Given the description of an element on the screen output the (x, y) to click on. 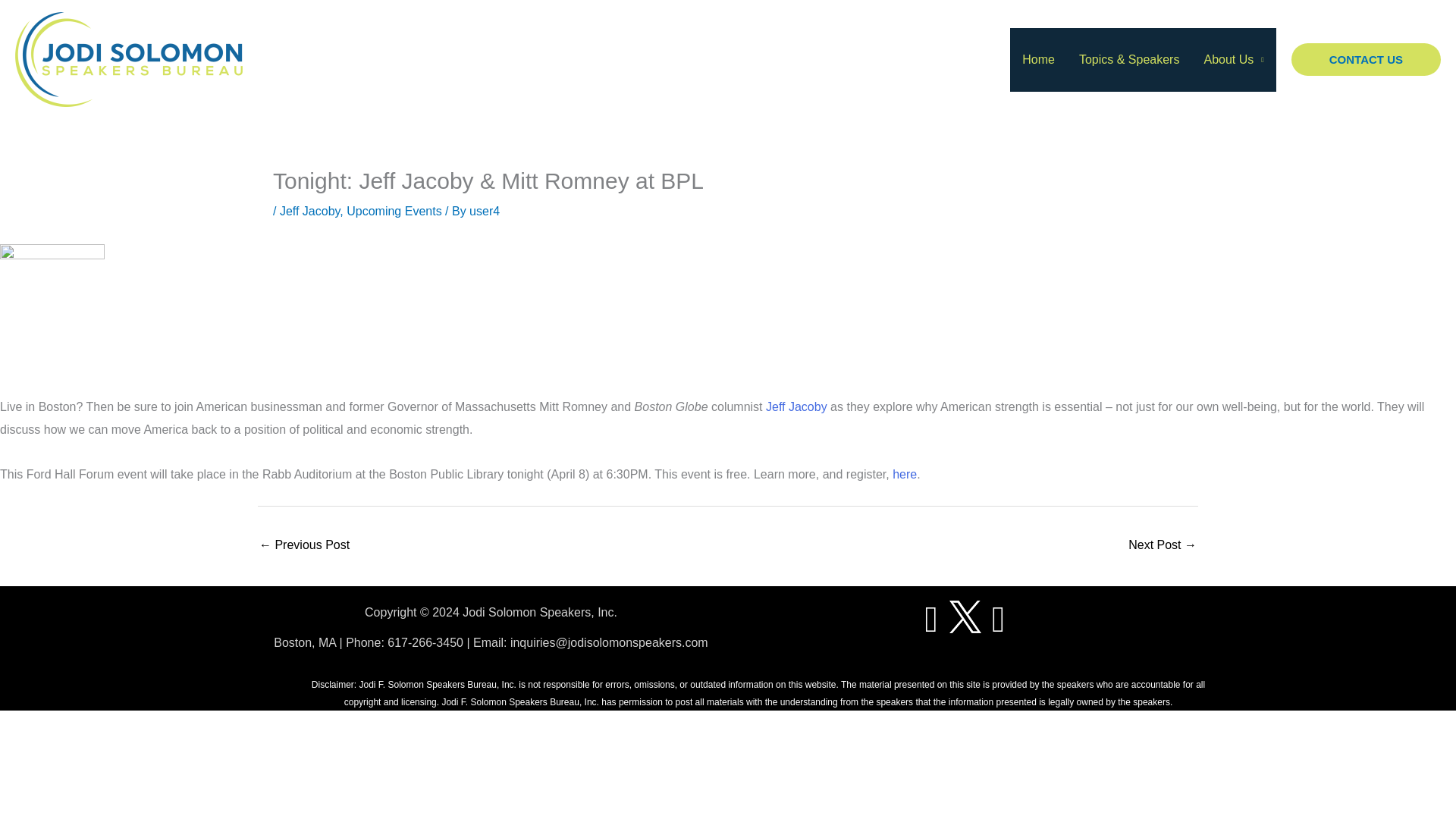
Jeff Jacoby (794, 406)
here (904, 473)
Tyson on The Colbert Report. Again. (1162, 546)
Home (1038, 58)
About Us (1233, 58)
Upcoming Events (393, 210)
user4 (483, 210)
Chief Wilma Mankiller (304, 546)
CONTACT US (1366, 59)
Jeff Jacoby (309, 210)
View all posts by user4 (483, 210)
